Given the description of an element on the screen output the (x, y) to click on. 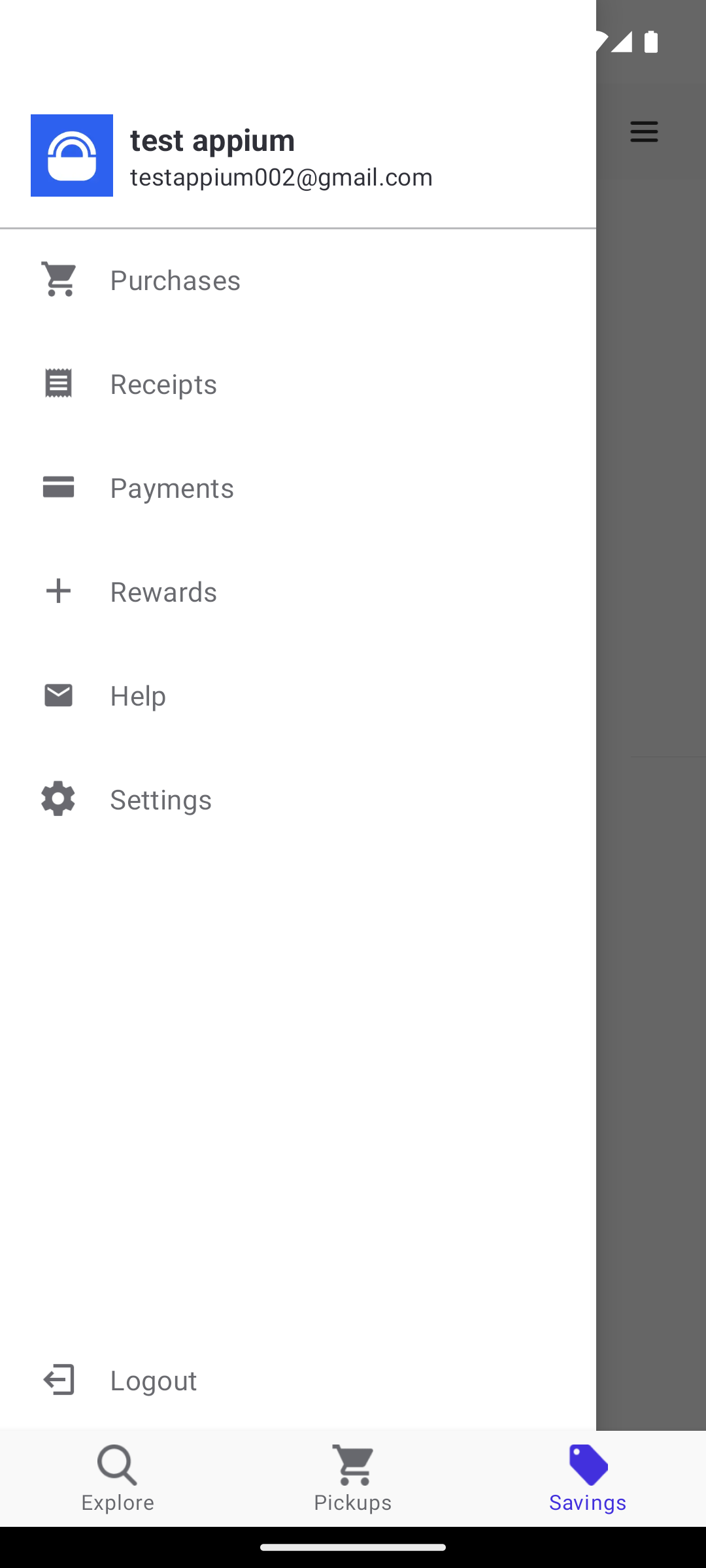
Purchases (299, 278)
Receipts (299, 382)
Payments (299, 487)
Rewards (299, 590)
Help (299, 694)
Settings (299, 797)
Logout (297, 1379)
Explore (117, 1478)
Pickups (352, 1478)
